Given the description of an element on the screen output the (x, y) to click on. 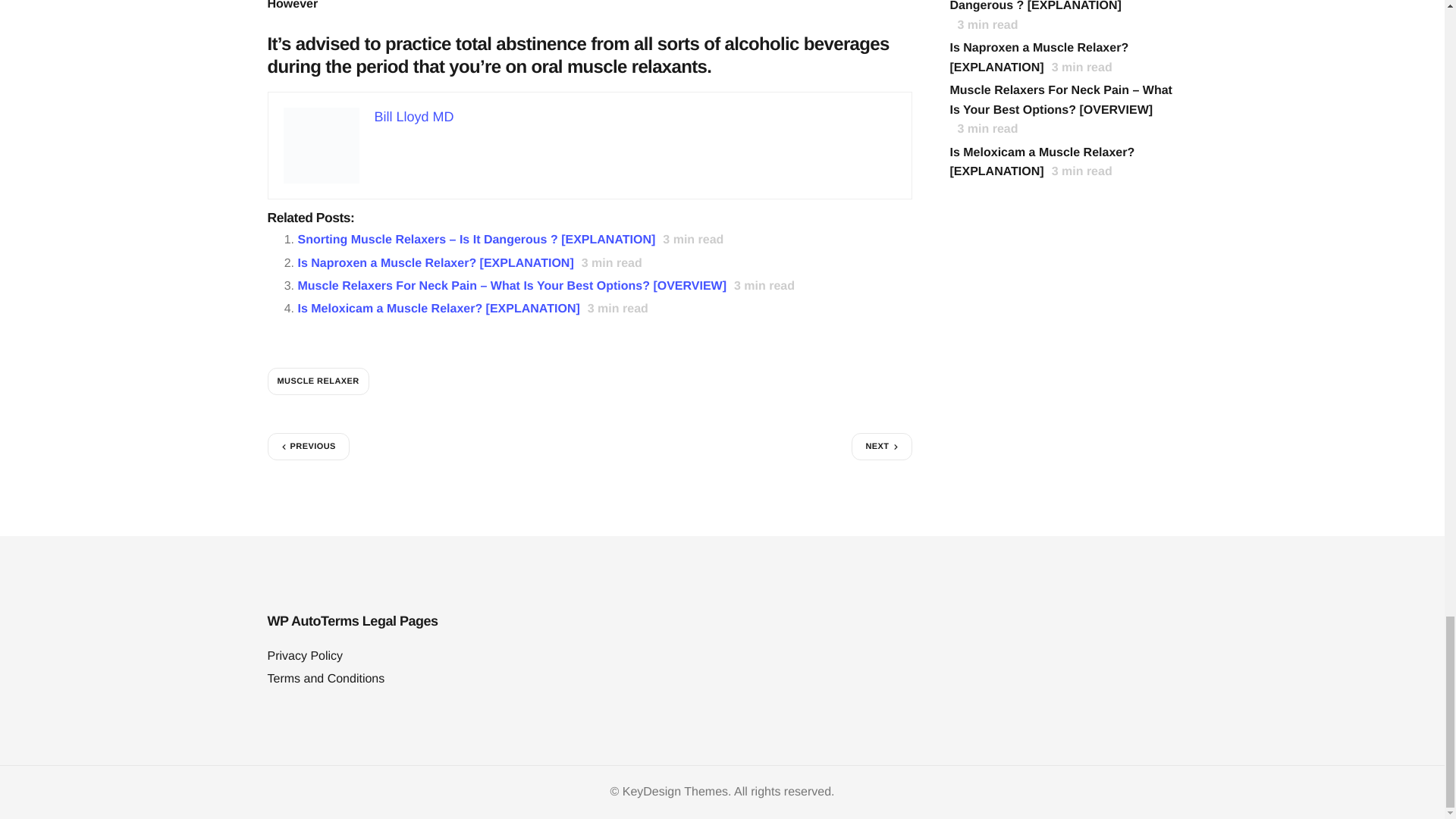
PREVIOUS (307, 446)
NEXT (881, 446)
Bill Lloyd MD (414, 116)
MUSCLE RELAXER (317, 380)
